Given the description of an element on the screen output the (x, y) to click on. 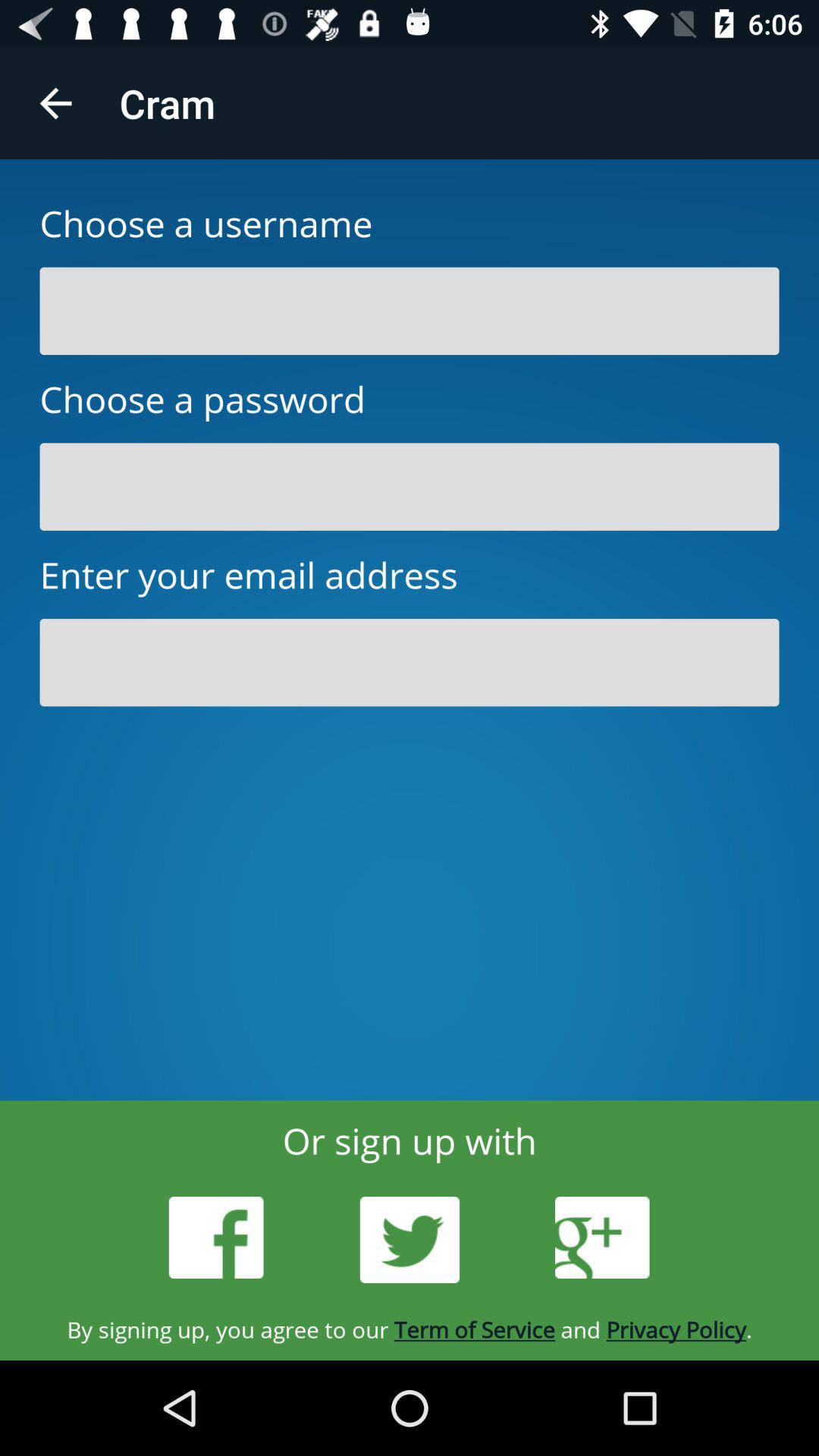
sign up with twitter (409, 1239)
